Given the description of an element on the screen output the (x, y) to click on. 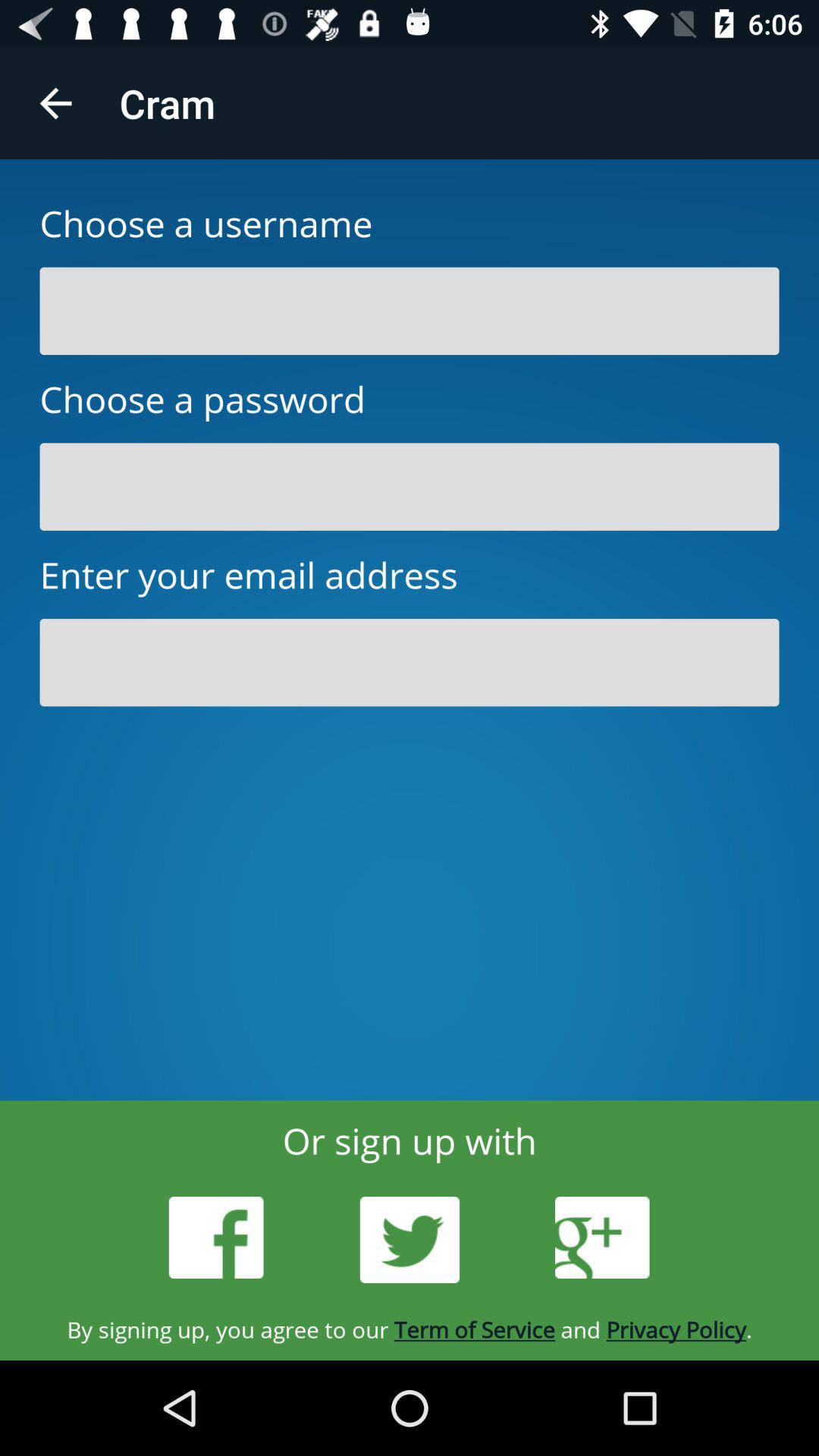
sign up with twitter (409, 1239)
